Given the description of an element on the screen output the (x, y) to click on. 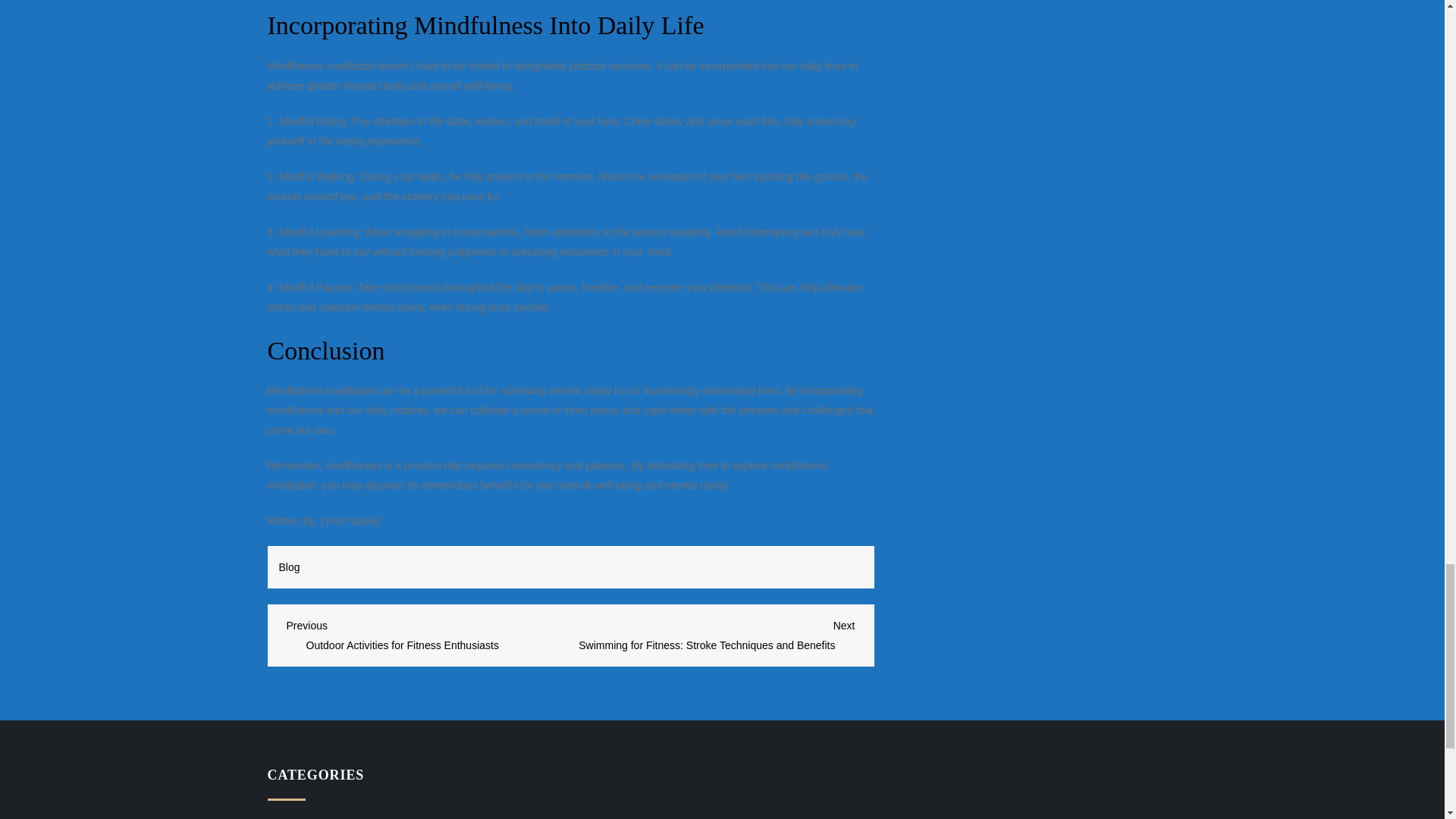
Blog (289, 567)
